Given the description of an element on the screen output the (x, y) to click on. 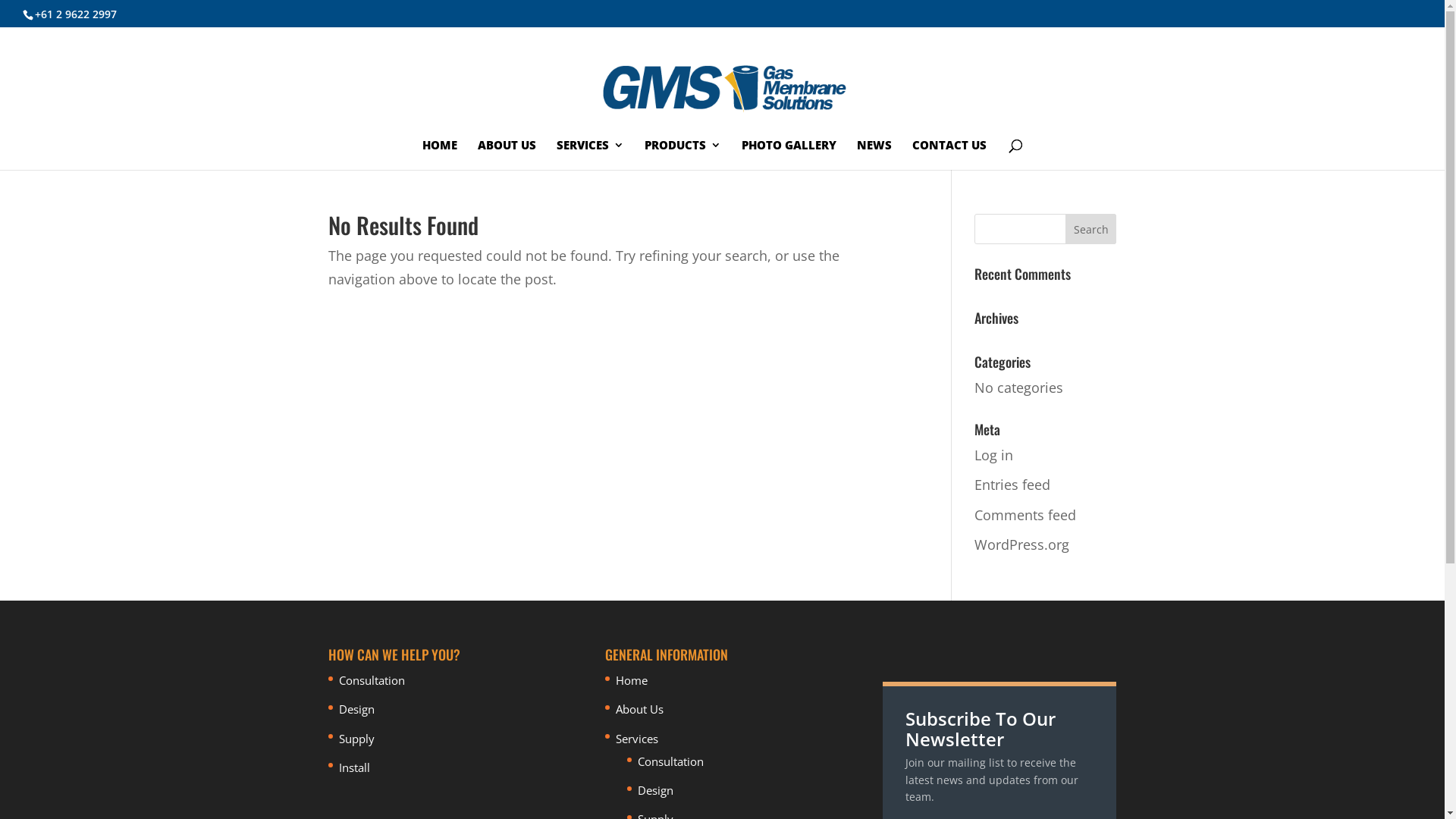
Log in Element type: text (993, 454)
SERVICES Element type: text (590, 154)
Services Element type: text (636, 738)
Consultation Element type: text (371, 679)
NEWS Element type: text (873, 154)
Search Element type: text (1091, 228)
PRODUCTS Element type: text (682, 154)
HOME Element type: text (439, 154)
ABOUT US Element type: text (506, 154)
Supply Element type: text (355, 738)
Design Element type: text (355, 708)
Consultation Element type: text (670, 760)
Home Element type: text (631, 679)
About Us Element type: text (639, 708)
Entries feed Element type: text (1012, 484)
Install Element type: text (353, 767)
Design Element type: text (655, 789)
CONTACT US Element type: text (949, 154)
PHOTO GALLERY Element type: text (788, 154)
WordPress.org Element type: text (1021, 544)
Comments feed Element type: text (1025, 514)
